Given the description of an element on the screen output the (x, y) to click on. 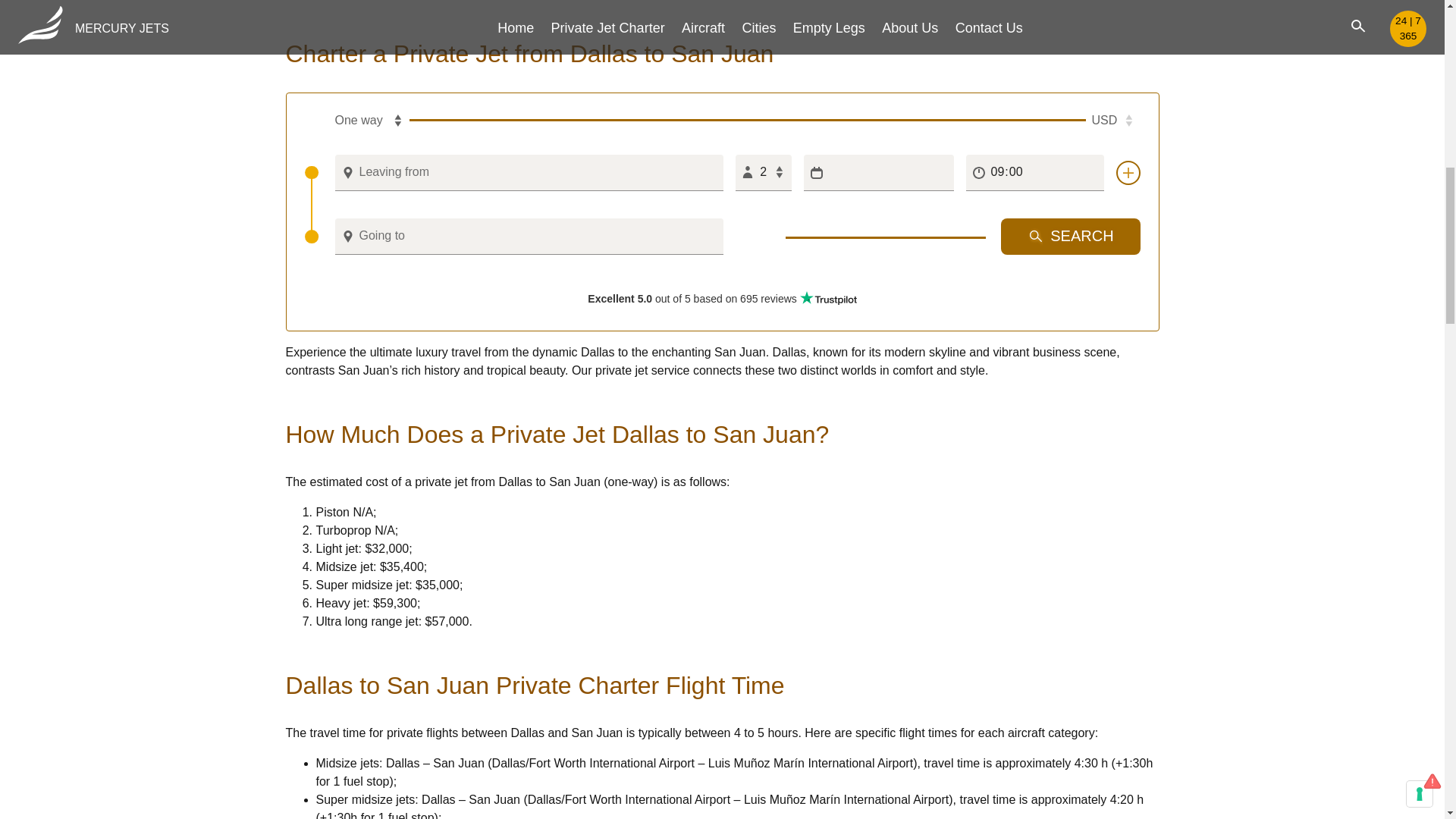
09:00 (1034, 172)
SEARCH (1070, 236)
Excellent 5.0 out of 5 based on 695 reviews (722, 298)
